Given the description of an element on the screen output the (x, y) to click on. 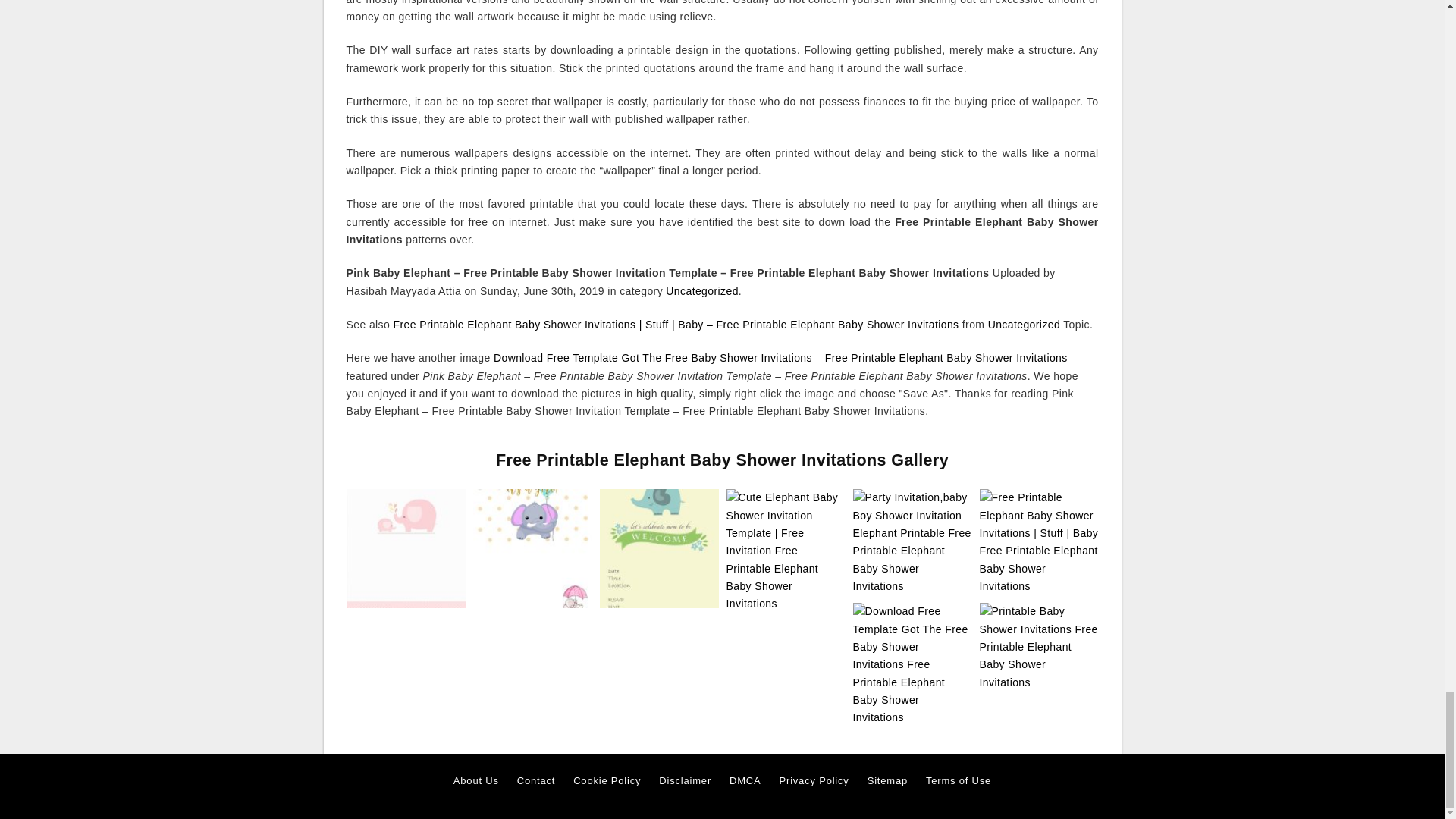
Contact (535, 781)
Sitemap (887, 781)
Uncategorized (701, 291)
Cookie Policy (606, 781)
About Us (475, 781)
Privacy Policy (813, 781)
DMCA (744, 781)
Uncategorized (1023, 324)
Disclaimer (685, 781)
